Given the description of an element on the screen output the (x, y) to click on. 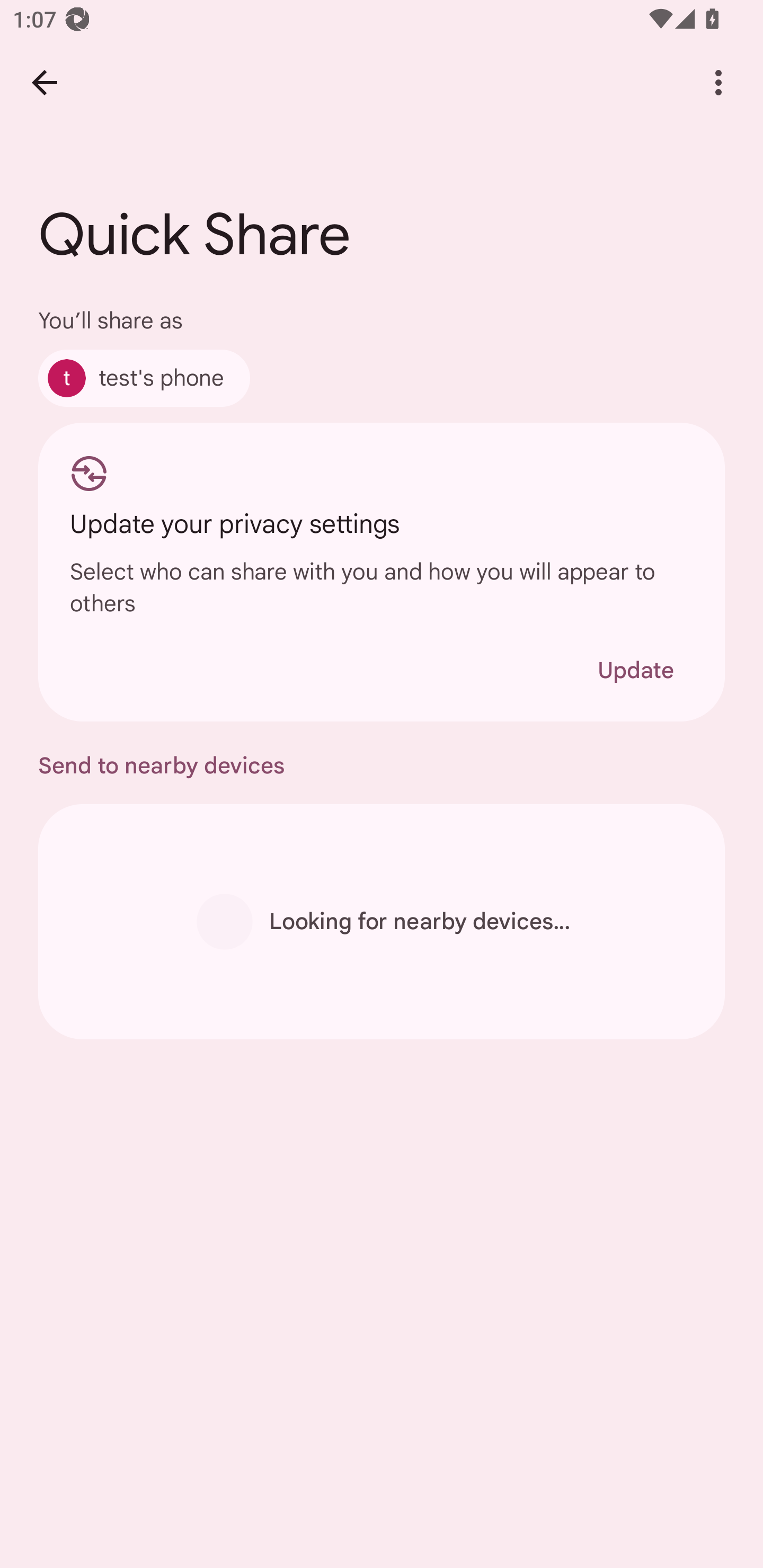
Back (44, 81)
More (718, 81)
test's phone (144, 378)
Update (635, 669)
